Given the description of an element on the screen output the (x, y) to click on. 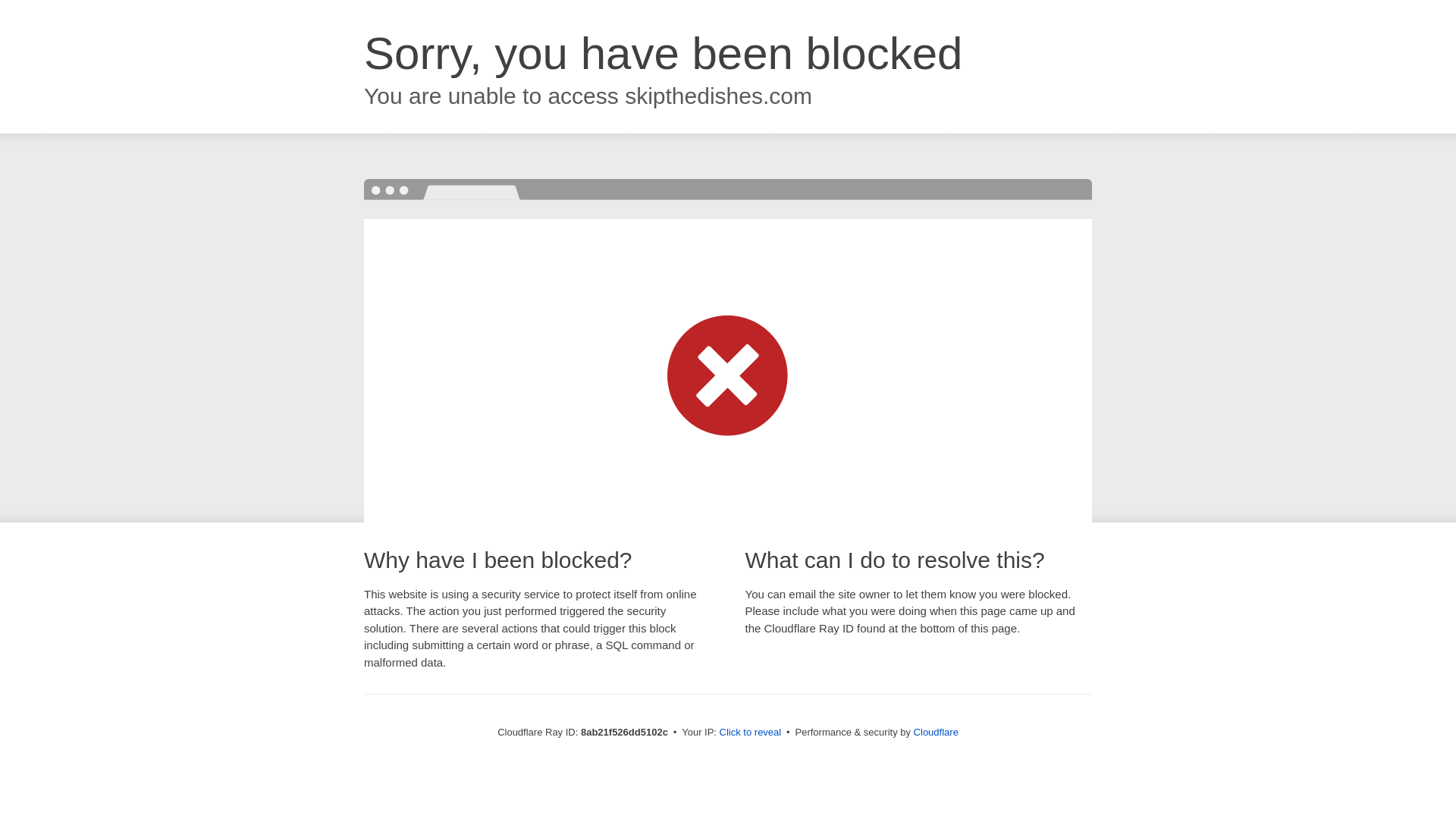
Click to reveal (750, 732)
Cloudflare (936, 731)
